Given the description of an element on the screen output the (x, y) to click on. 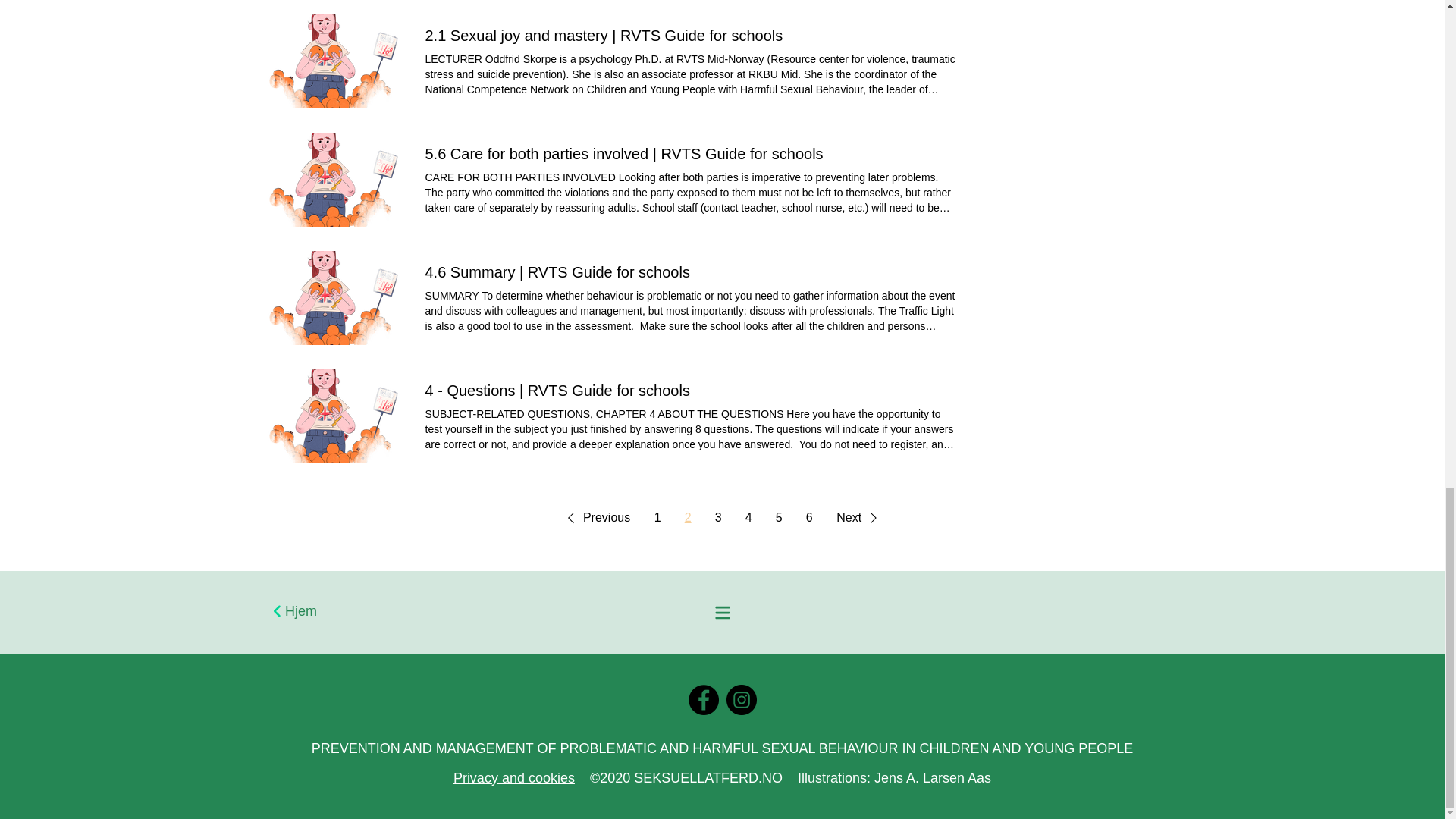
6 (808, 517)
Hjem (494, 612)
1 (657, 517)
Next (858, 517)
4 (748, 517)
5 (778, 517)
Previous (596, 517)
3 (718, 517)
